Given the description of an element on the screen output the (x, y) to click on. 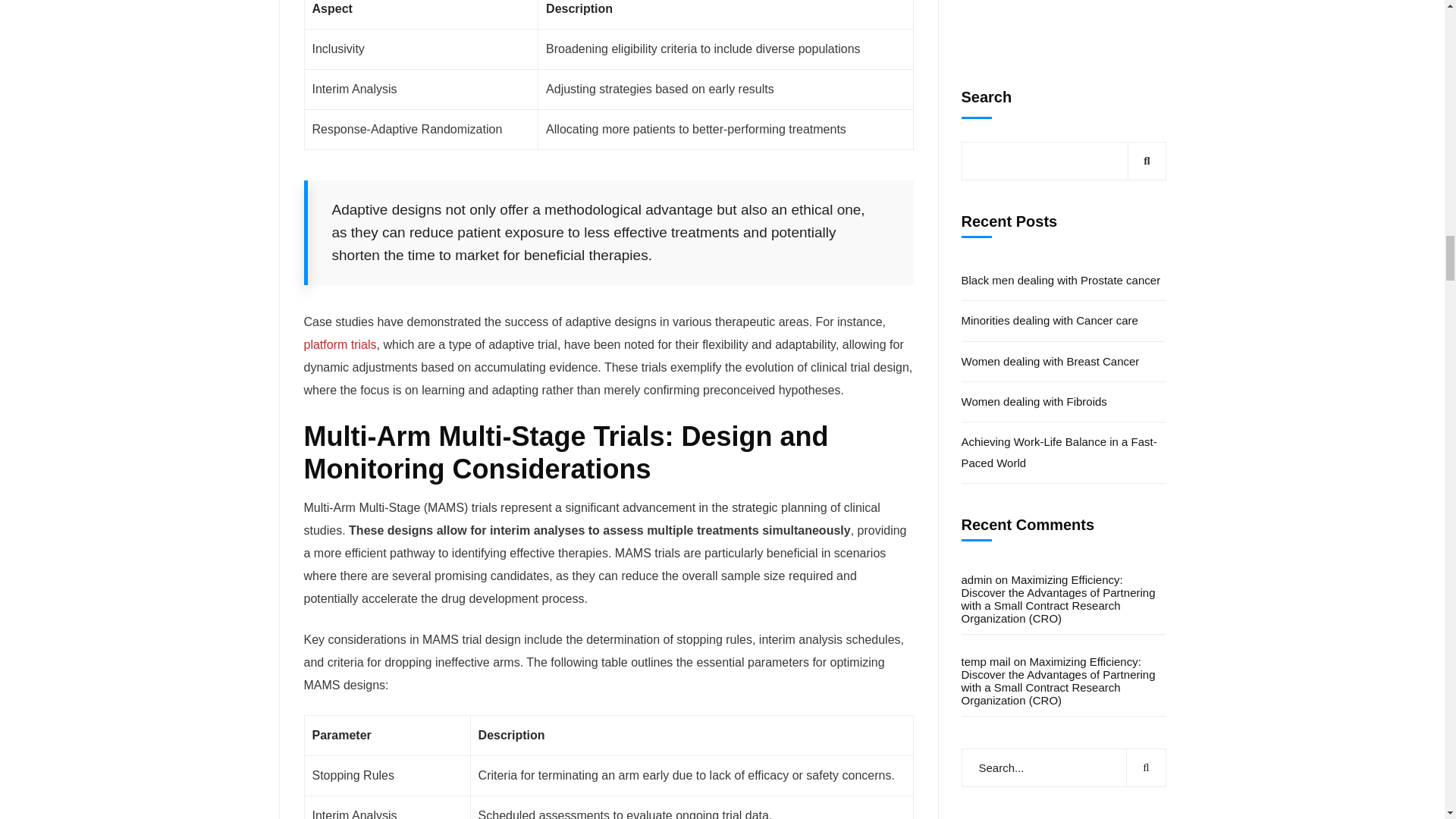
platform trials (338, 344)
